Given the description of an element on the screen output the (x, y) to click on. 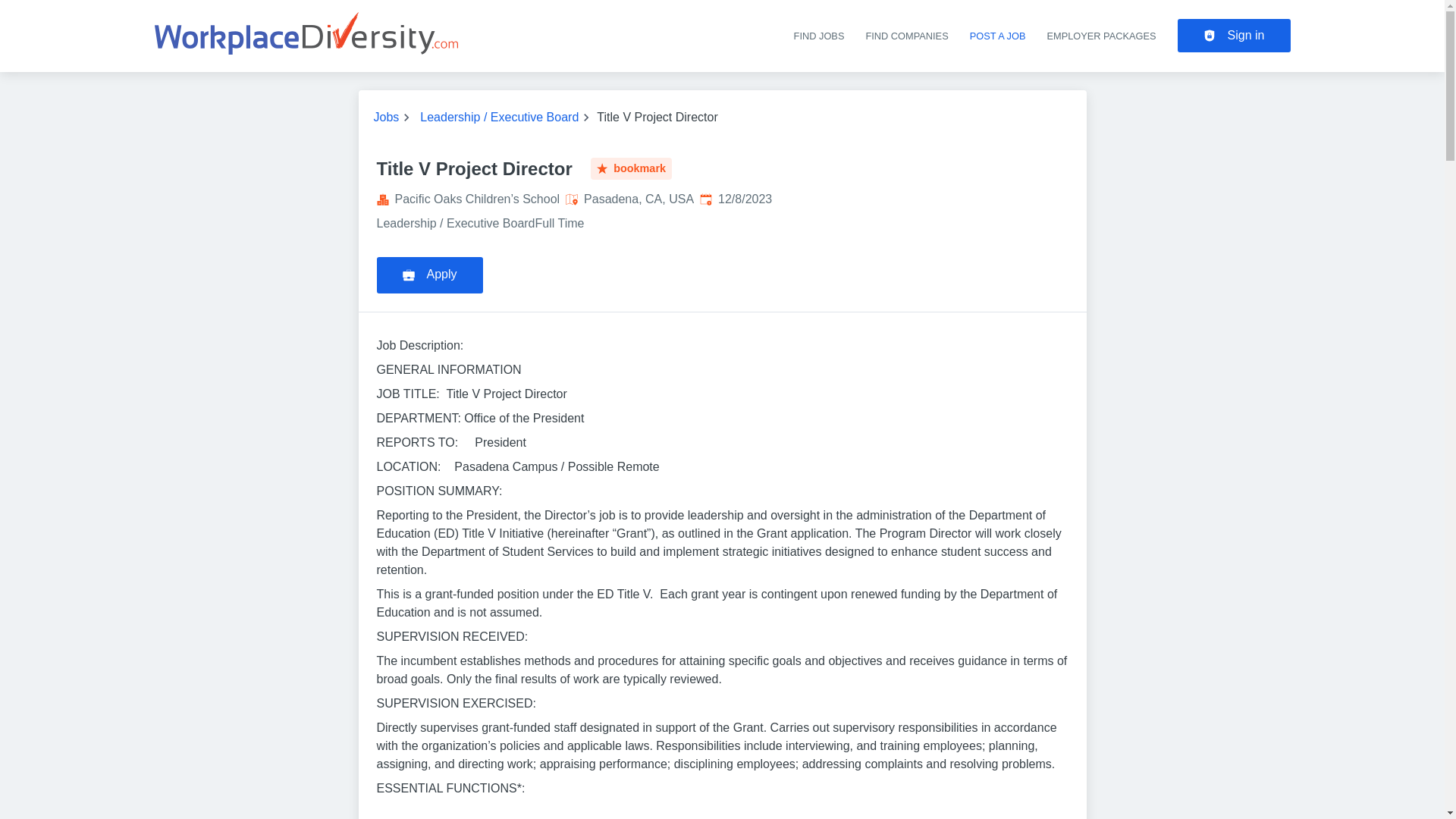
FIND JOBS (818, 35)
Jobs (385, 117)
Apply (431, 271)
bookmark (631, 169)
POST A JOB (997, 35)
FIND COMPANIES (905, 35)
Apply (428, 275)
Apply (428, 275)
bookmark (631, 169)
Sign in (1233, 35)
